Given the description of an element on the screen output the (x, y) to click on. 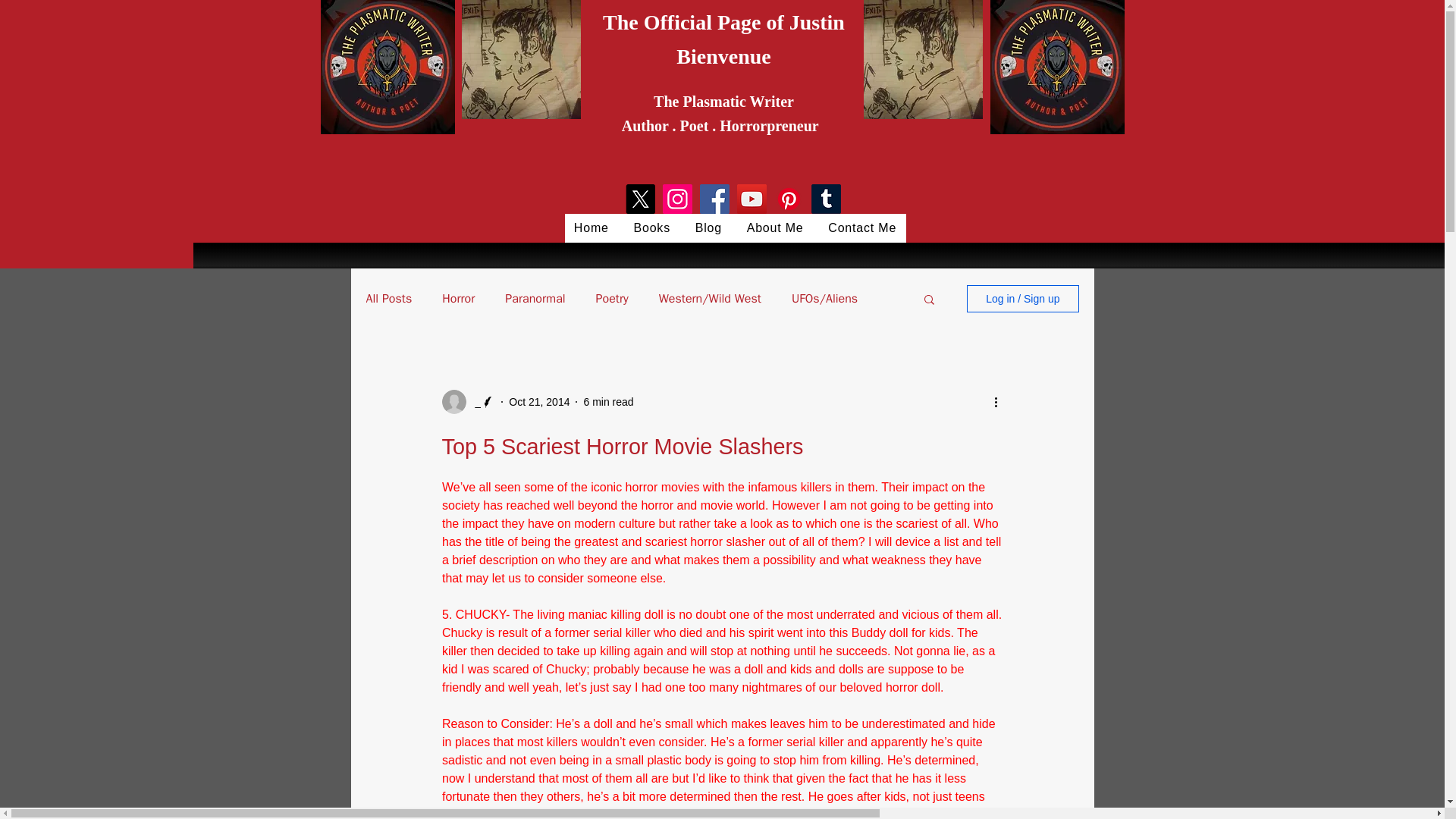
Paranormal (534, 299)
Poetry (611, 299)
Oct 21, 2014 (538, 401)
Blog (707, 227)
6 min read (608, 401)
All Posts (388, 299)
Horror (458, 299)
Contact Me (861, 227)
Home (590, 227)
Books (651, 227)
